Given the description of an element on the screen output the (x, y) to click on. 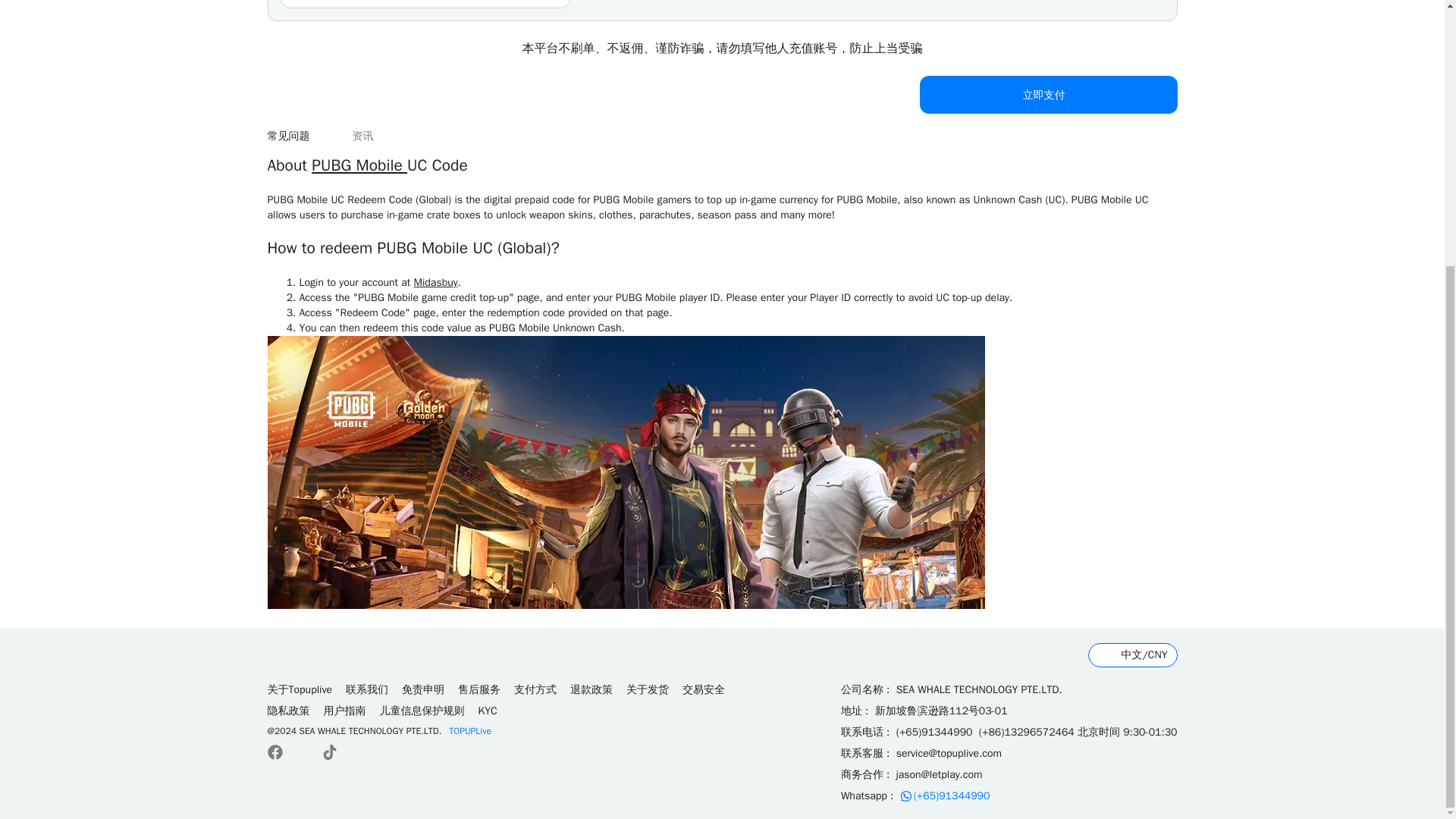
PUBG Mobile  (359, 165)
Midasbuy (435, 282)
